Given the description of an element on the screen output the (x, y) to click on. 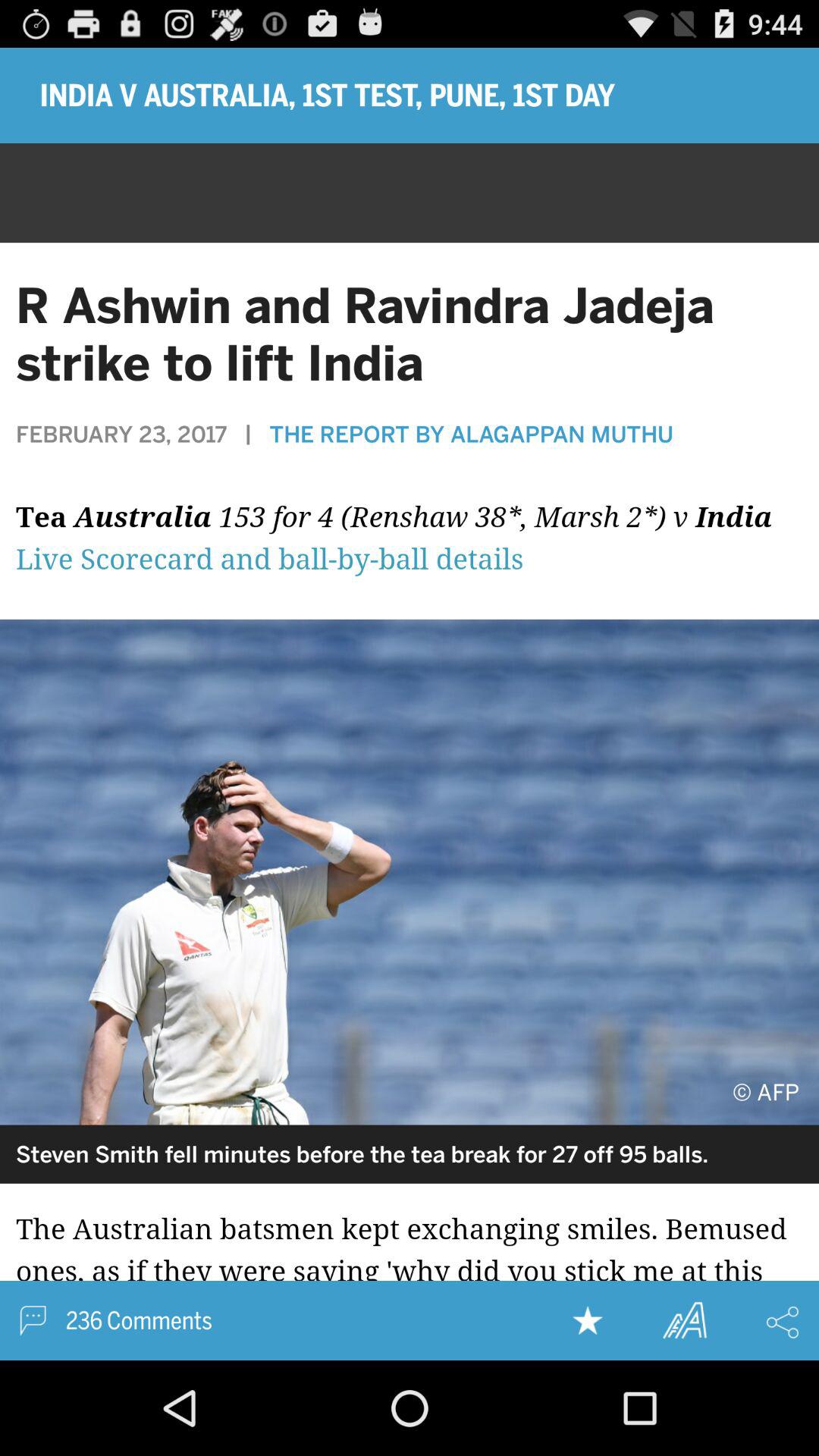
watch live stream (409, 546)
